Given the description of an element on the screen output the (x, y) to click on. 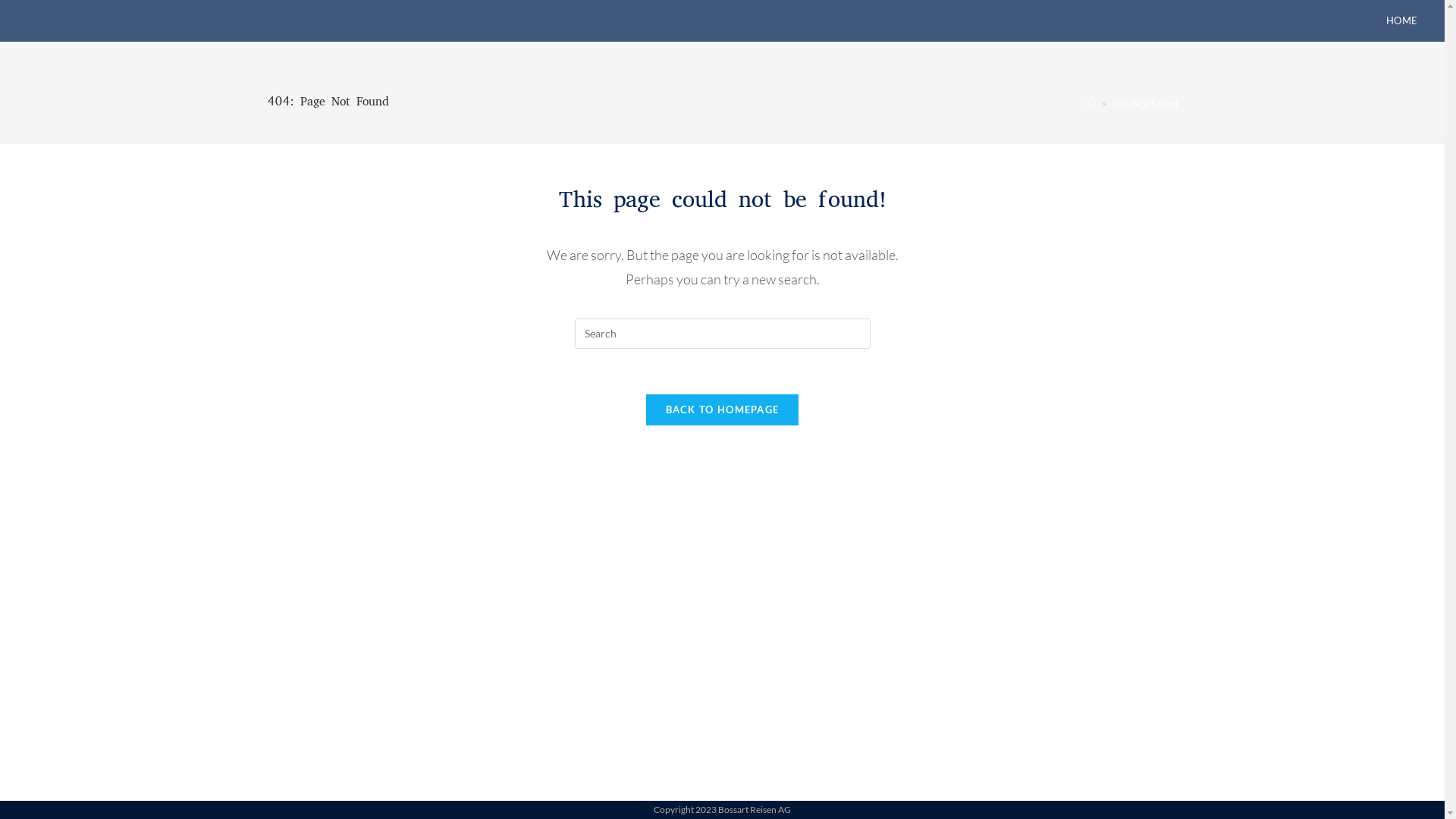
HOME Element type: text (1402, 20)
BACK TO HOMEPAGE Element type: text (722, 409)
404 Not Found Element type: text (1144, 103)
